Given the description of an element on the screen output the (x, y) to click on. 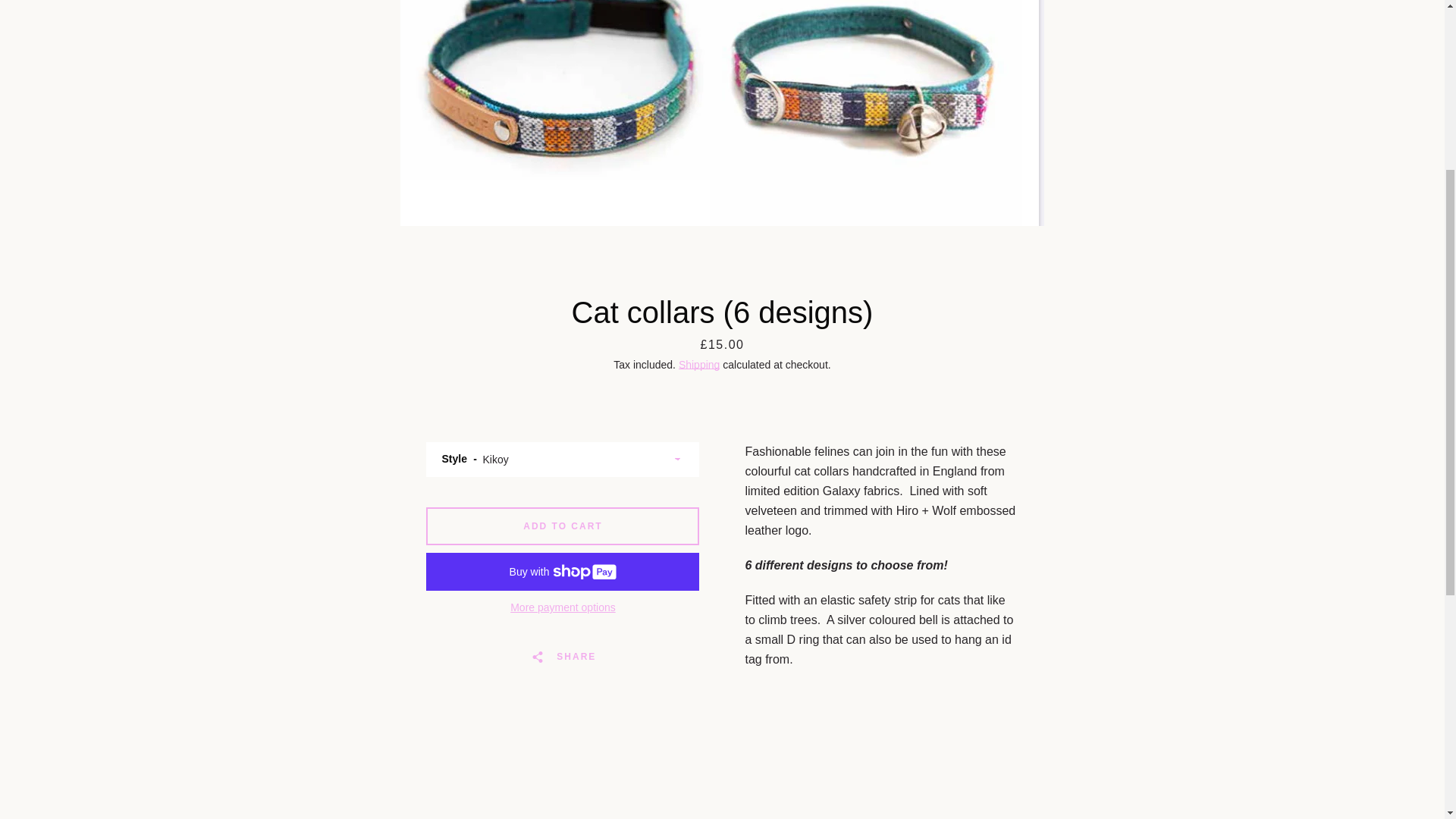
Maestro (1057, 448)
Visa (1057, 471)
Union Pay (1022, 471)
American Express (883, 448)
Google Pay (1022, 448)
Shop Pay (988, 471)
Mastercard (953, 471)
Diners Club (953, 448)
Apple Pay (918, 448)
Discover (988, 448)
